Given the description of an element on the screen output the (x, y) to click on. 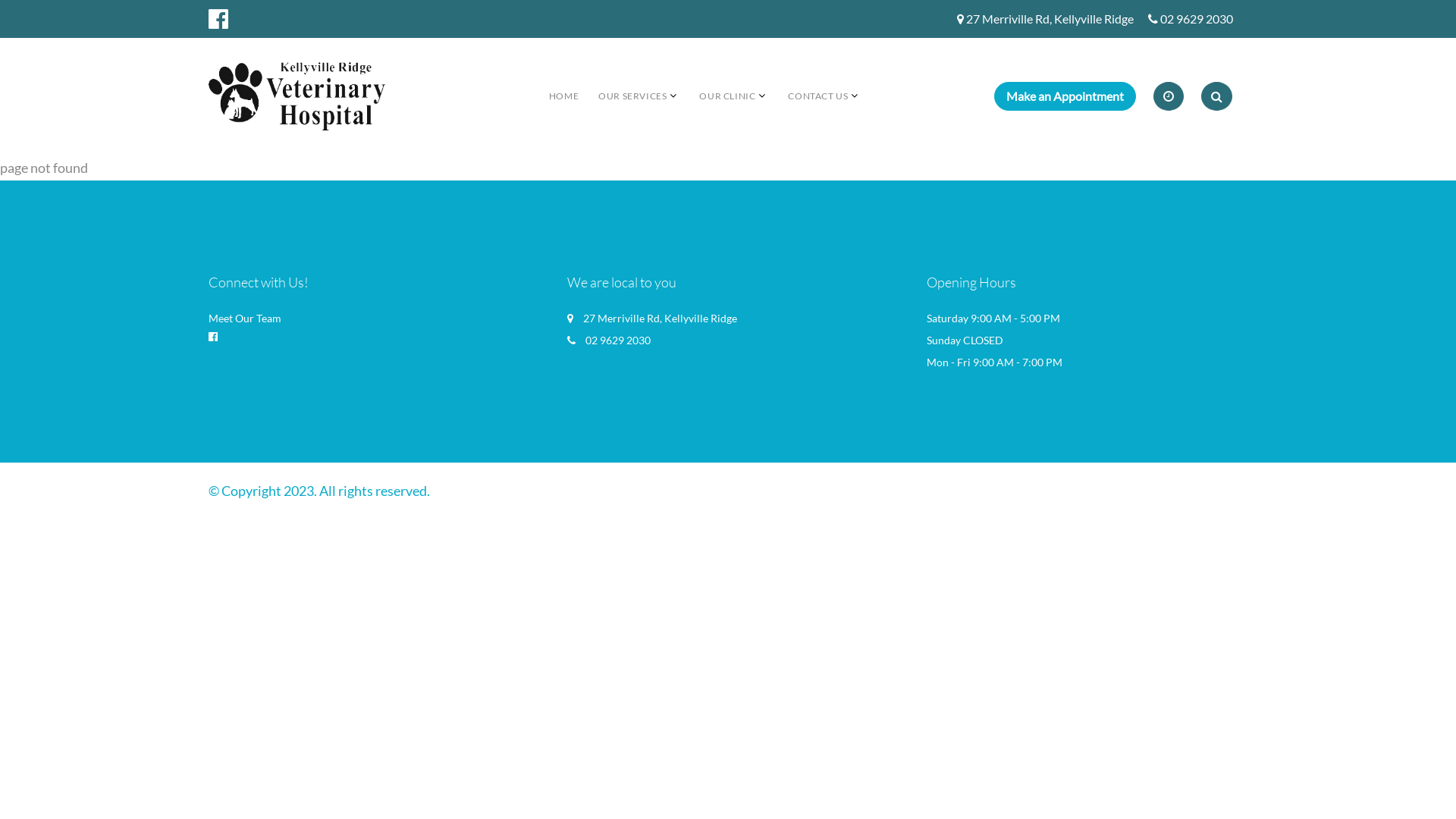
Meet Our Team Element type: text (244, 318)
OUR SERVICES Element type: text (632, 95)
HOME Element type: text (563, 95)
Make an Appointment Element type: text (1064, 95)
CONTACT US Element type: text (817, 95)
OUR CLINIC Element type: text (727, 95)
02 9629 2030 Element type: text (1196, 19)
02 9629 2030 Element type: text (617, 340)
